Given the description of an element on the screen output the (x, y) to click on. 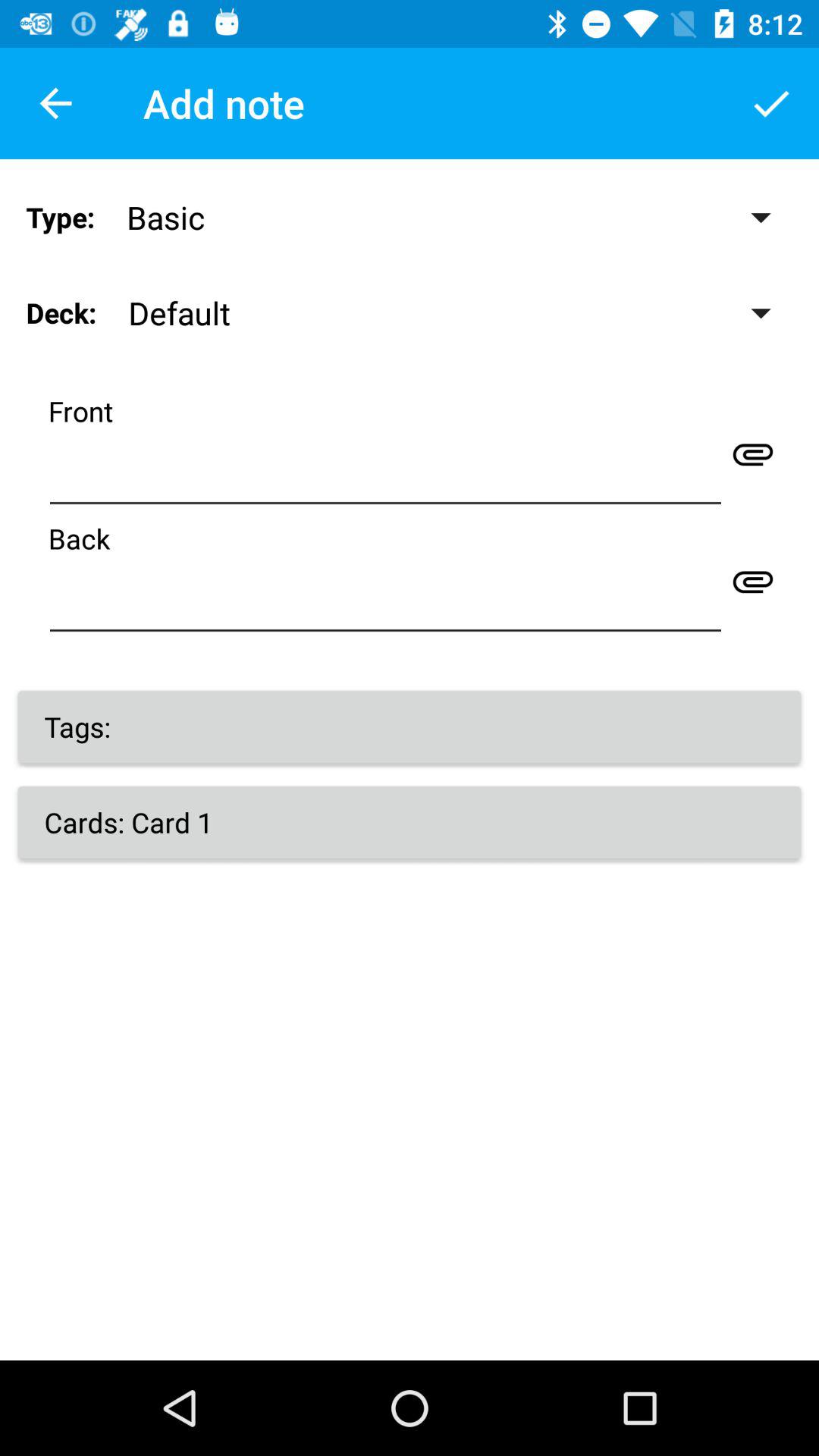
click on attachment icon at front line (753, 453)
click on the attach icon right side of back (753, 581)
